Given the description of an element on the screen output the (x, y) to click on. 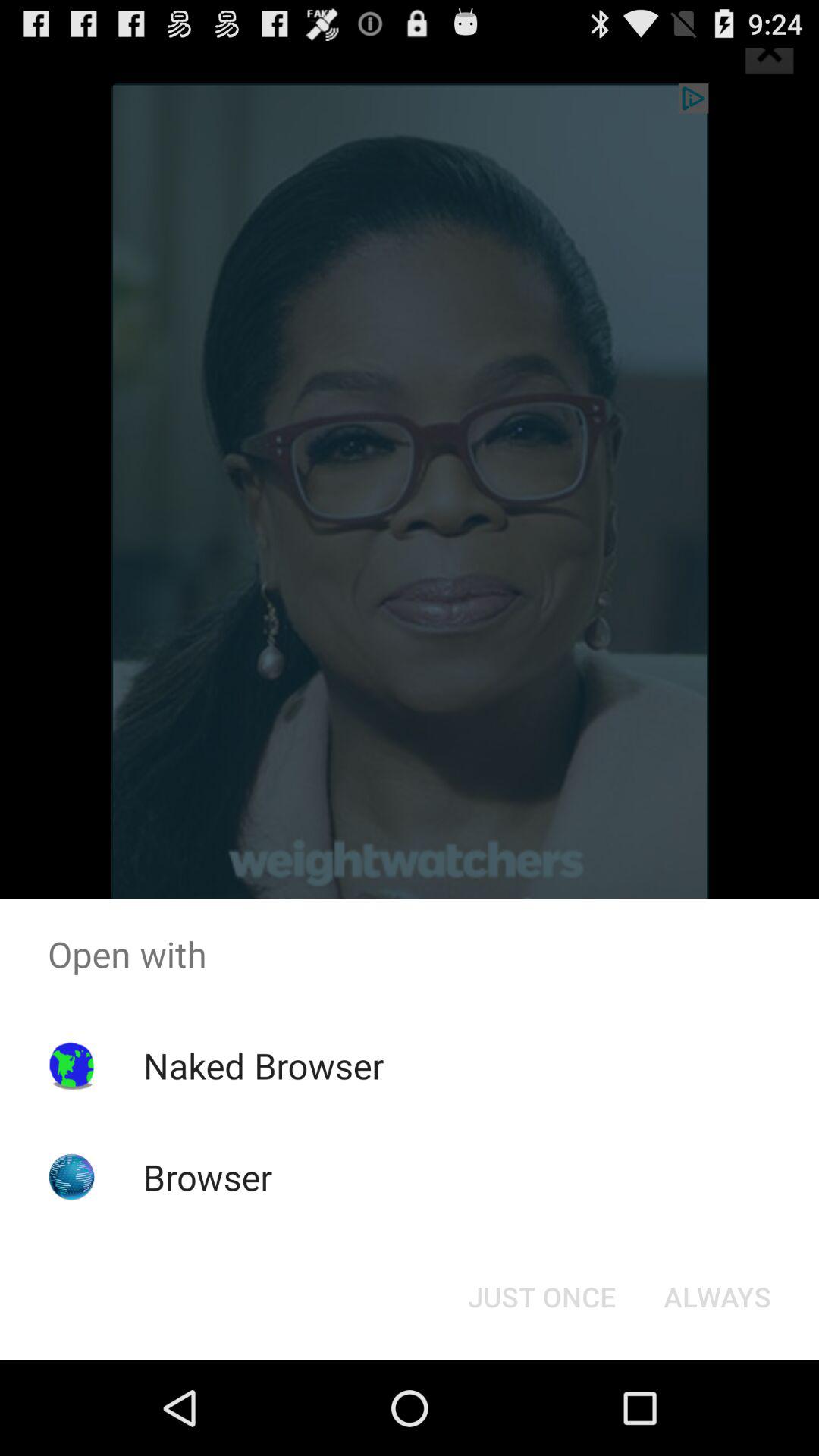
choose the app above the browser app (263, 1065)
